Given the description of an element on the screen output the (x, y) to click on. 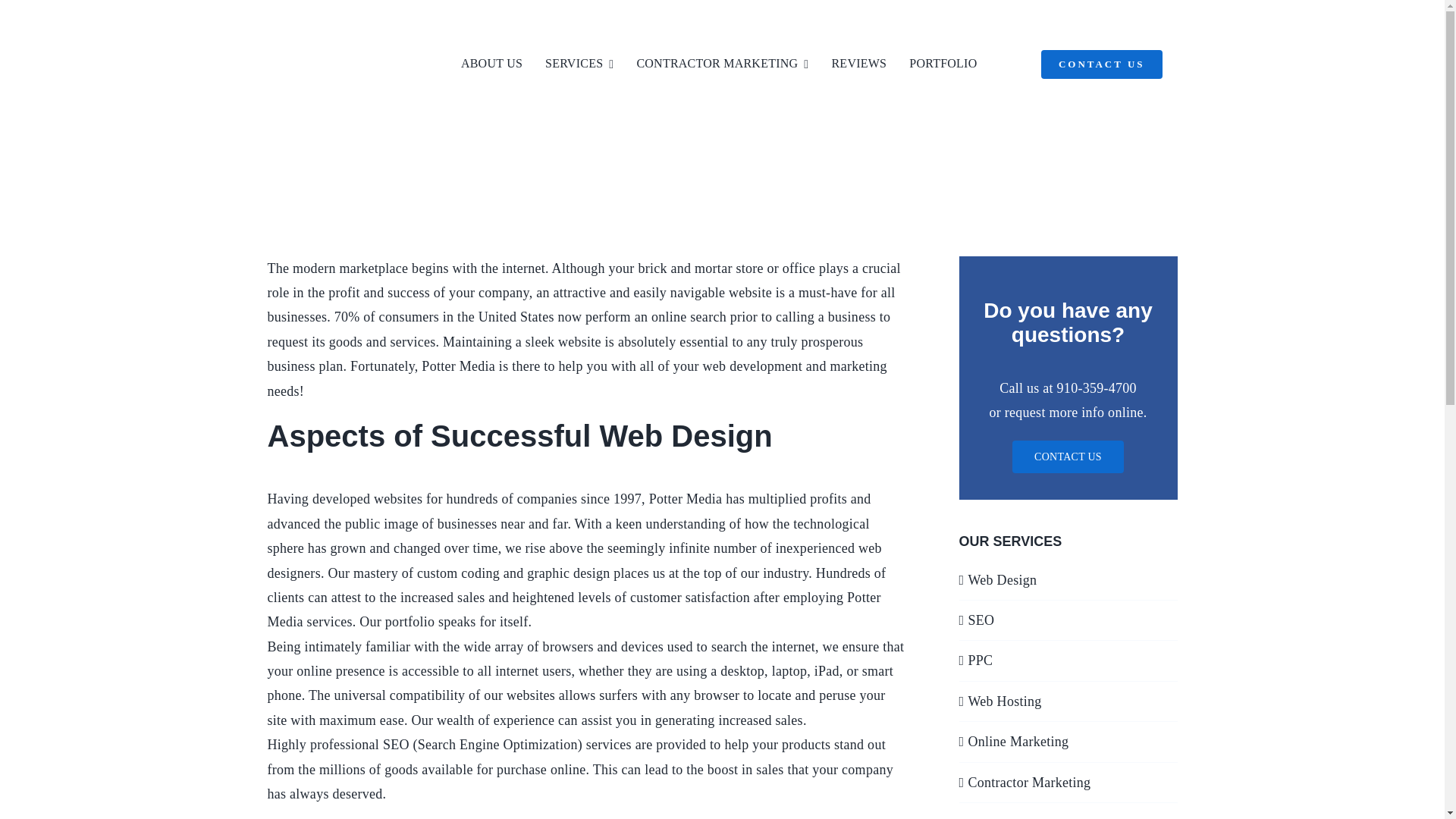
910-359-4700 (970, 17)
SERVICES (578, 64)
ABOUT US (491, 64)
